Given the description of an element on the screen output the (x, y) to click on. 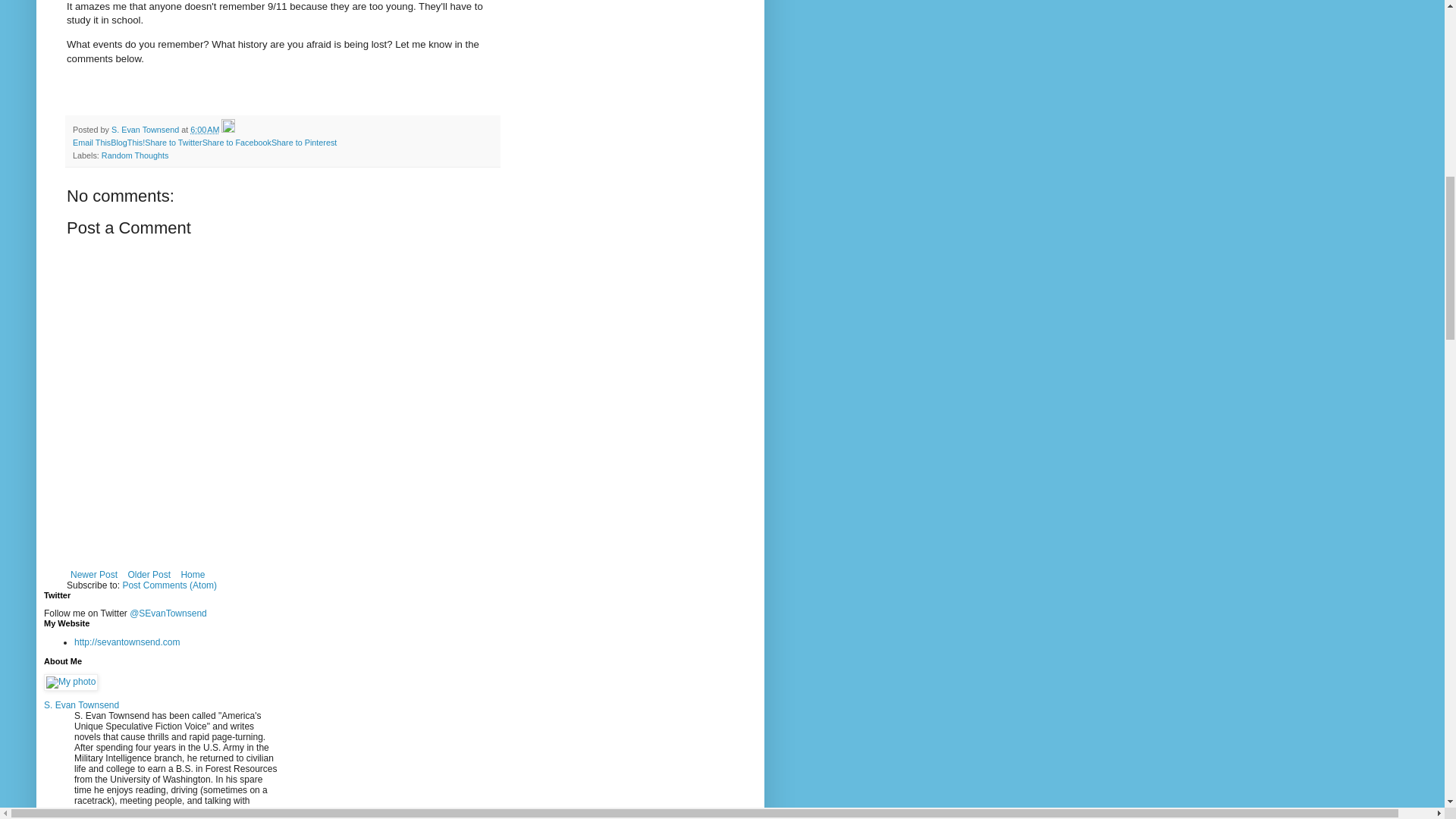
permanent link (204, 129)
Home (192, 574)
Share to Facebook (236, 142)
S. Evan Townsend (146, 129)
Share to Facebook (236, 142)
Share to Pinterest (303, 142)
Older Post (148, 574)
Edit Post (227, 129)
BlogThis! (127, 142)
BlogThis! (127, 142)
Newer Post (93, 574)
Share to Pinterest (303, 142)
Newer Post (93, 574)
Share to Twitter (173, 142)
Email This (91, 142)
